Given the description of an element on the screen output the (x, y) to click on. 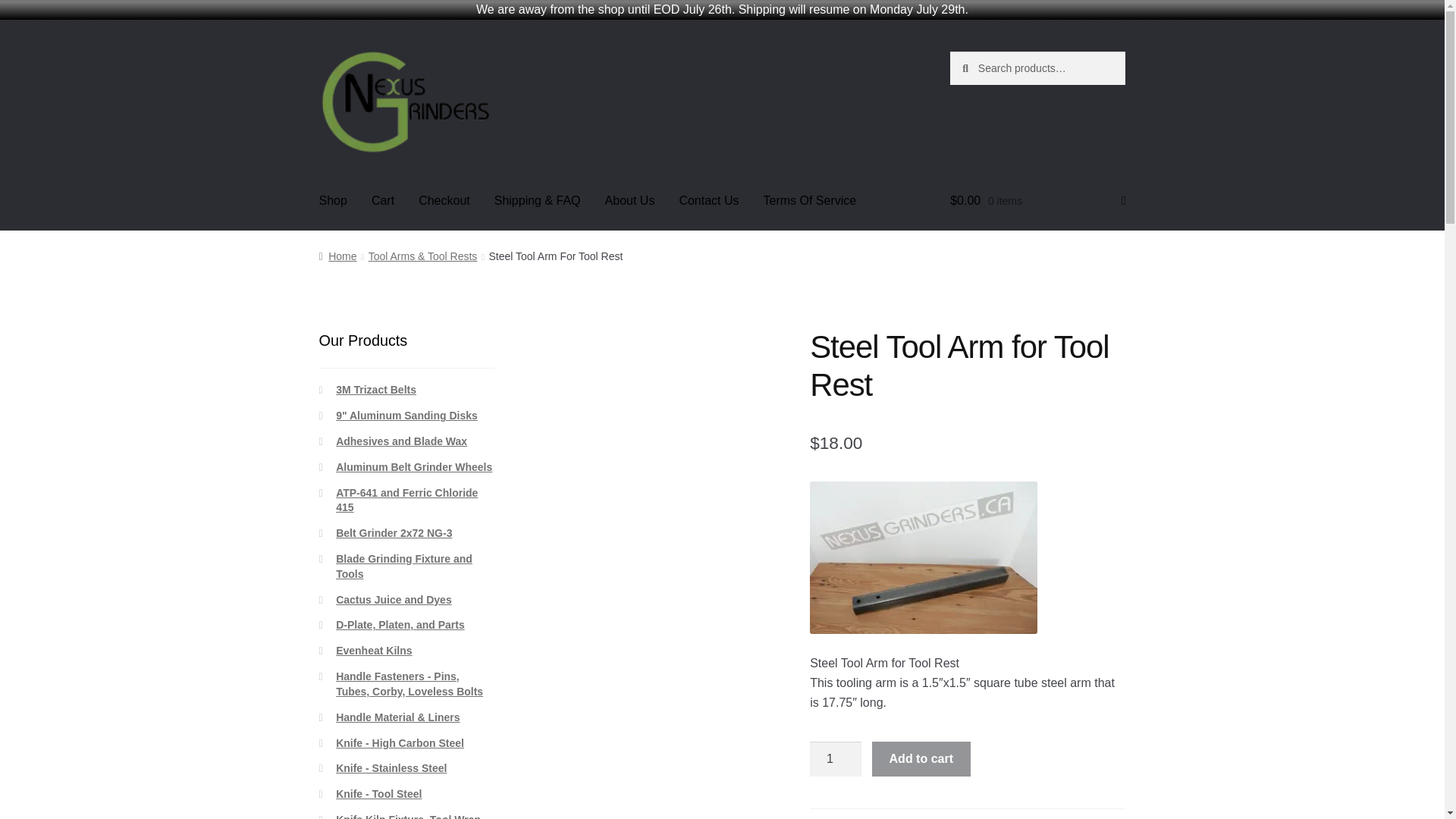
Shop (333, 200)
3M Trizact Belts (376, 389)
Add to cart (921, 759)
9" Aluminum Sanding Disks (406, 415)
View your shopping cart (1037, 200)
About Us (629, 200)
Home (337, 256)
Terms Of Service (810, 200)
1 (835, 759)
Contact Us (708, 200)
Checkout (443, 200)
Cart (382, 200)
